Given the description of an element on the screen output the (x, y) to click on. 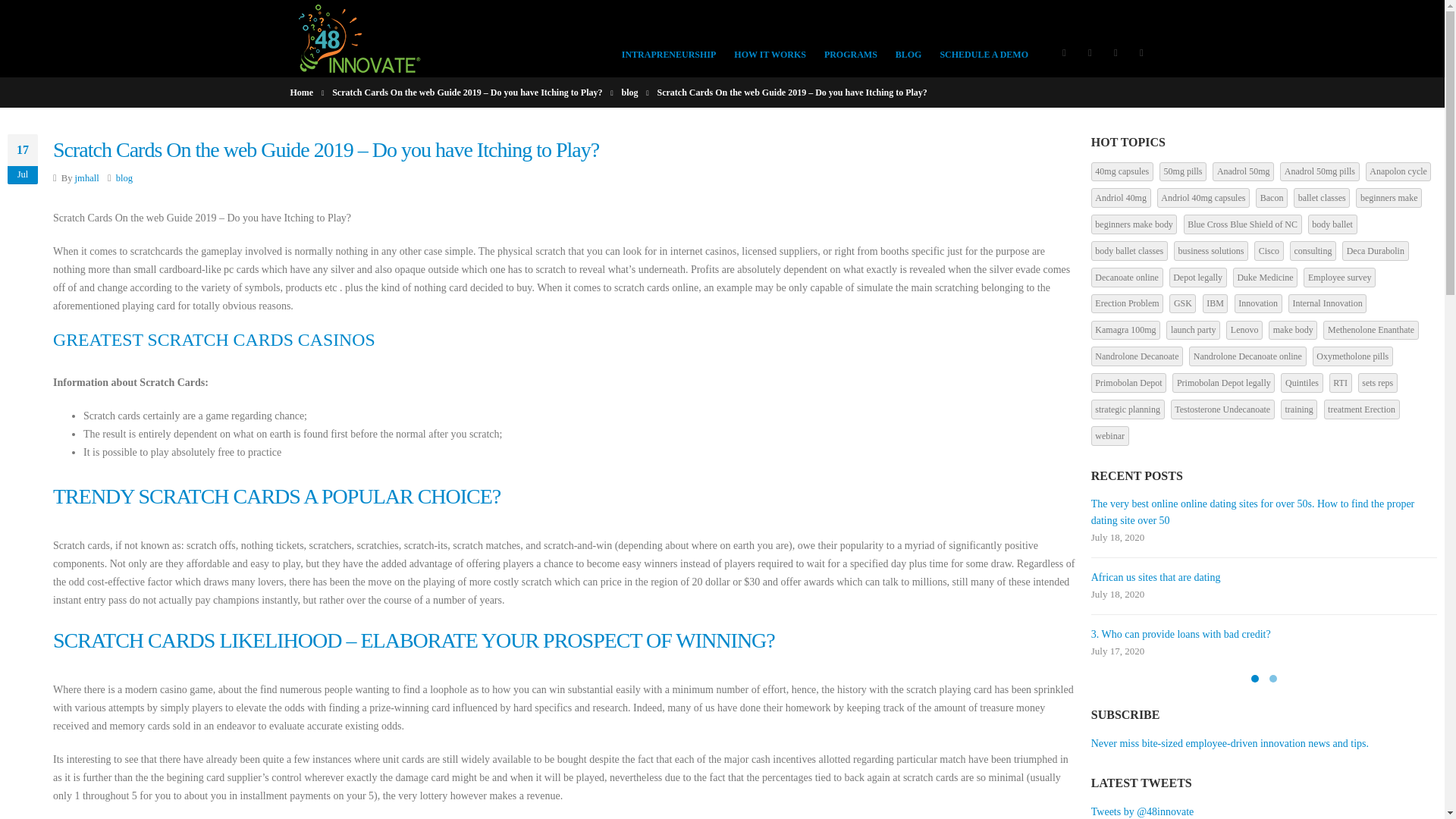
48 Innovate - Ignite Employee-driven Innovation (358, 38)
Facebook (1063, 51)
HOW IT WORKS (770, 38)
PROGRAMS (850, 38)
Google Plus (1141, 51)
jmhall (87, 177)
BLOG (908, 38)
Home (301, 92)
Posts by jmhall (87, 177)
LinkedIn (1114, 51)
INTRAPRENEURSHIP (668, 38)
blog (630, 92)
blog (124, 177)
SCHEDULE A DEMO (983, 38)
Twitter (1089, 51)
